Given the description of an element on the screen output the (x, y) to click on. 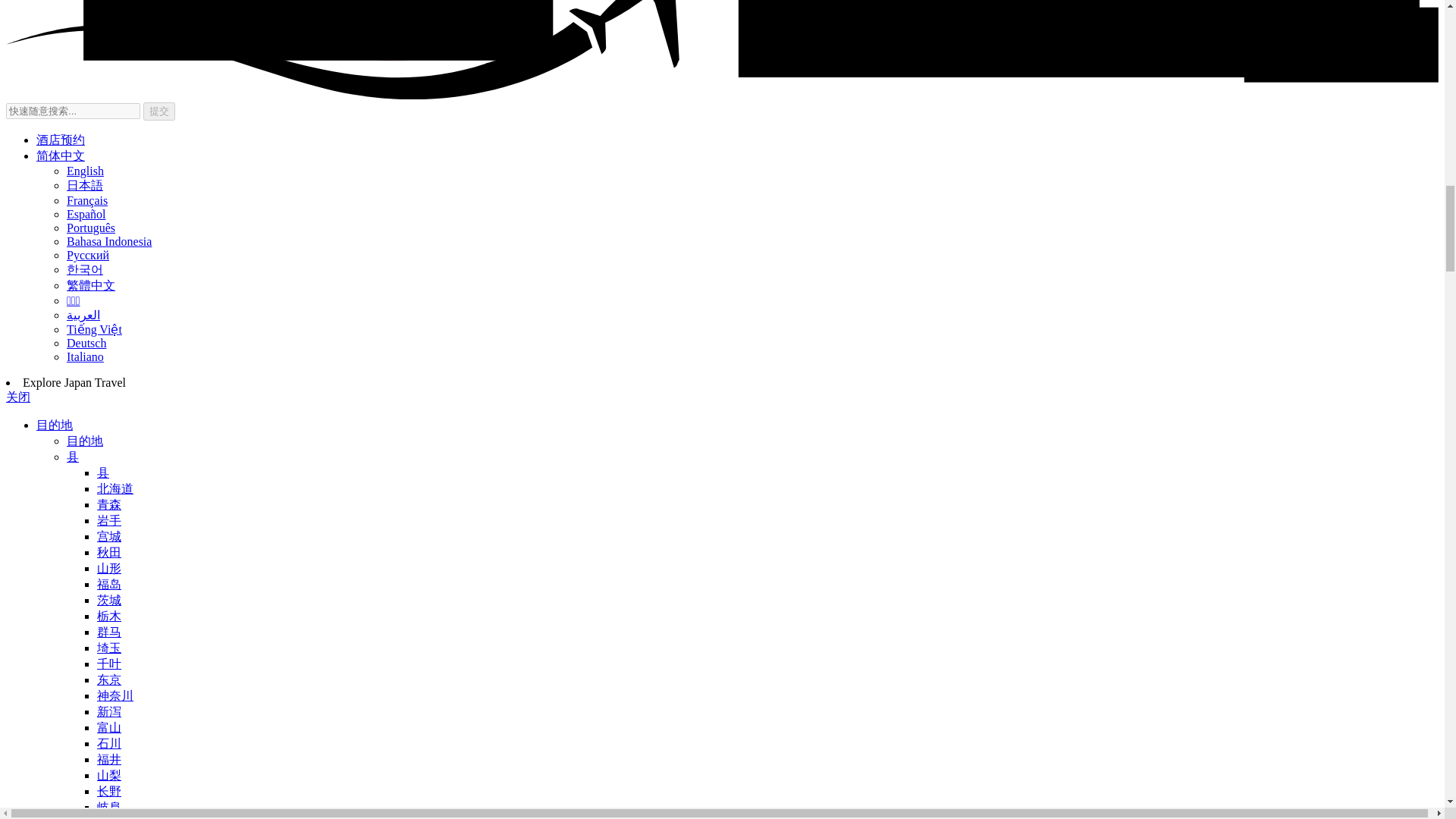
English (84, 170)
Italiano (84, 356)
Bahasa Indonesia (108, 241)
Deutsch (86, 342)
